Given the description of an element on the screen output the (x, y) to click on. 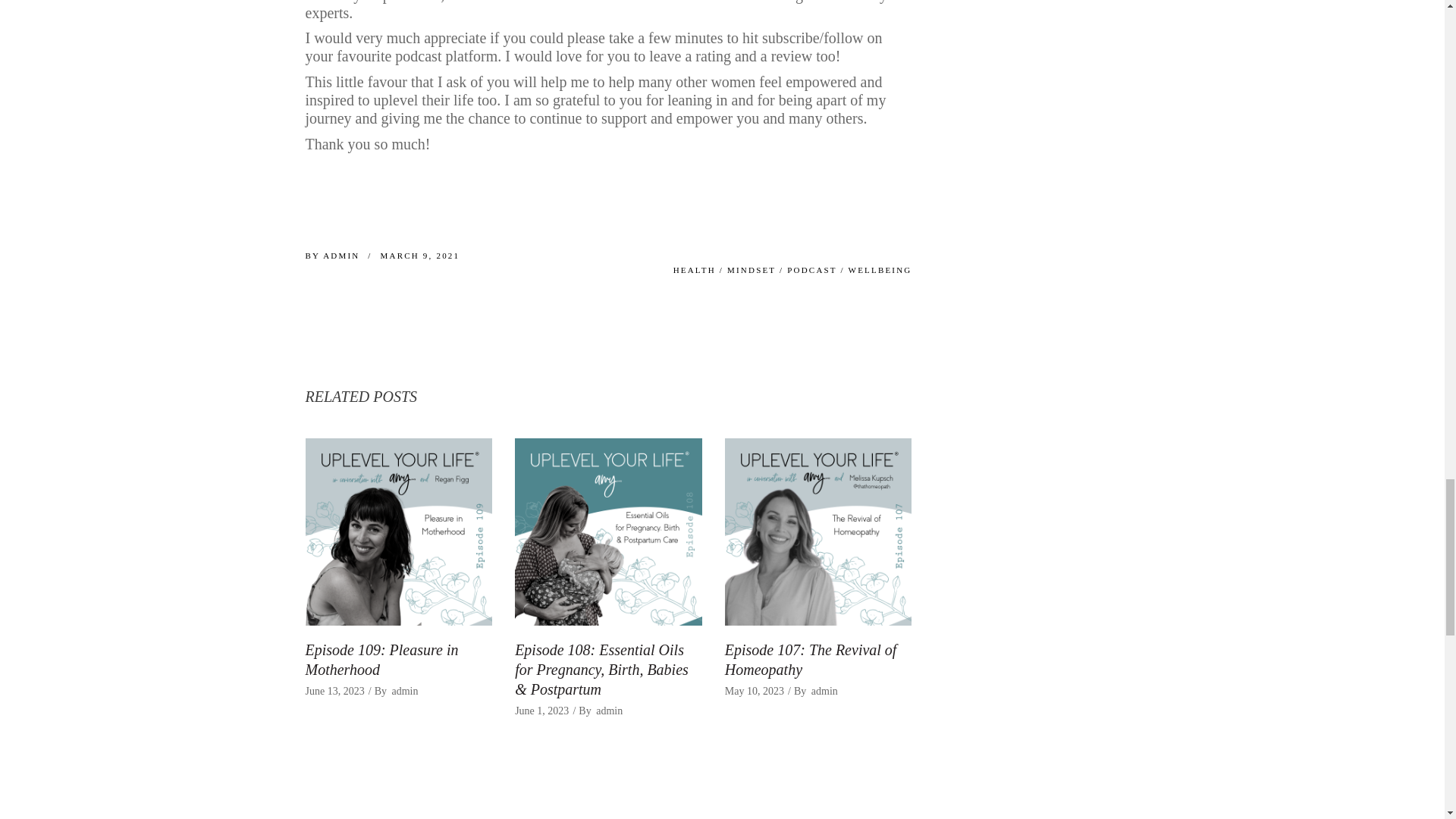
Episode 107: The Revival of Homeopathy (818, 531)
Episode 109: Pleasure in Motherhood (381, 659)
Episode 109: Pleasure in Motherhood (398, 531)
Episode 107: The Revival of Homeopathy (810, 659)
